Given the description of an element on the screen output the (x, y) to click on. 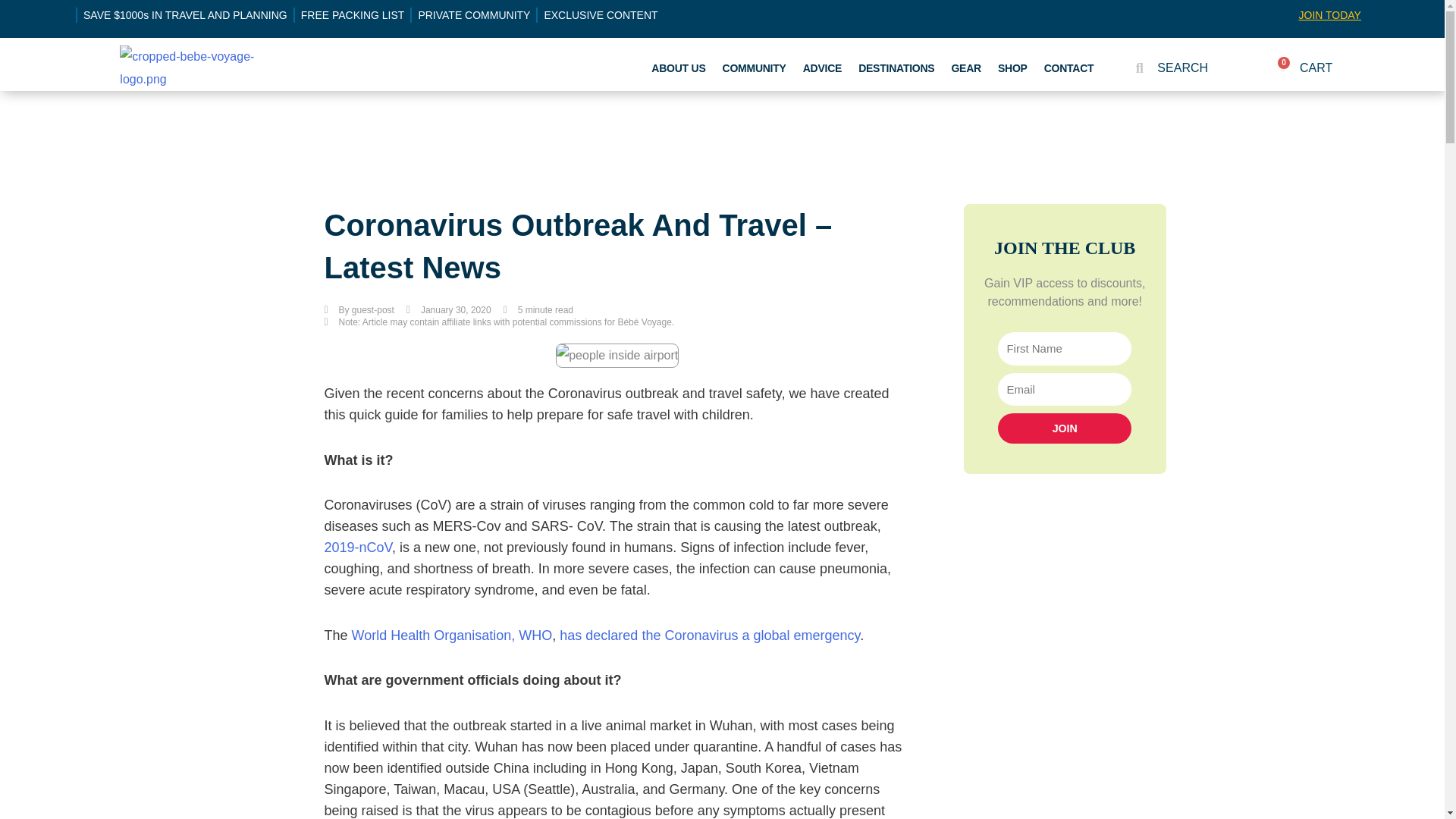
JOIN TODAY (1328, 15)
PEOPLE-INSIDE-AIRPORT-804463 (617, 355)
cropped-bebe-voyage-logo.png (198, 67)
